Given the description of an element on the screen output the (x, y) to click on. 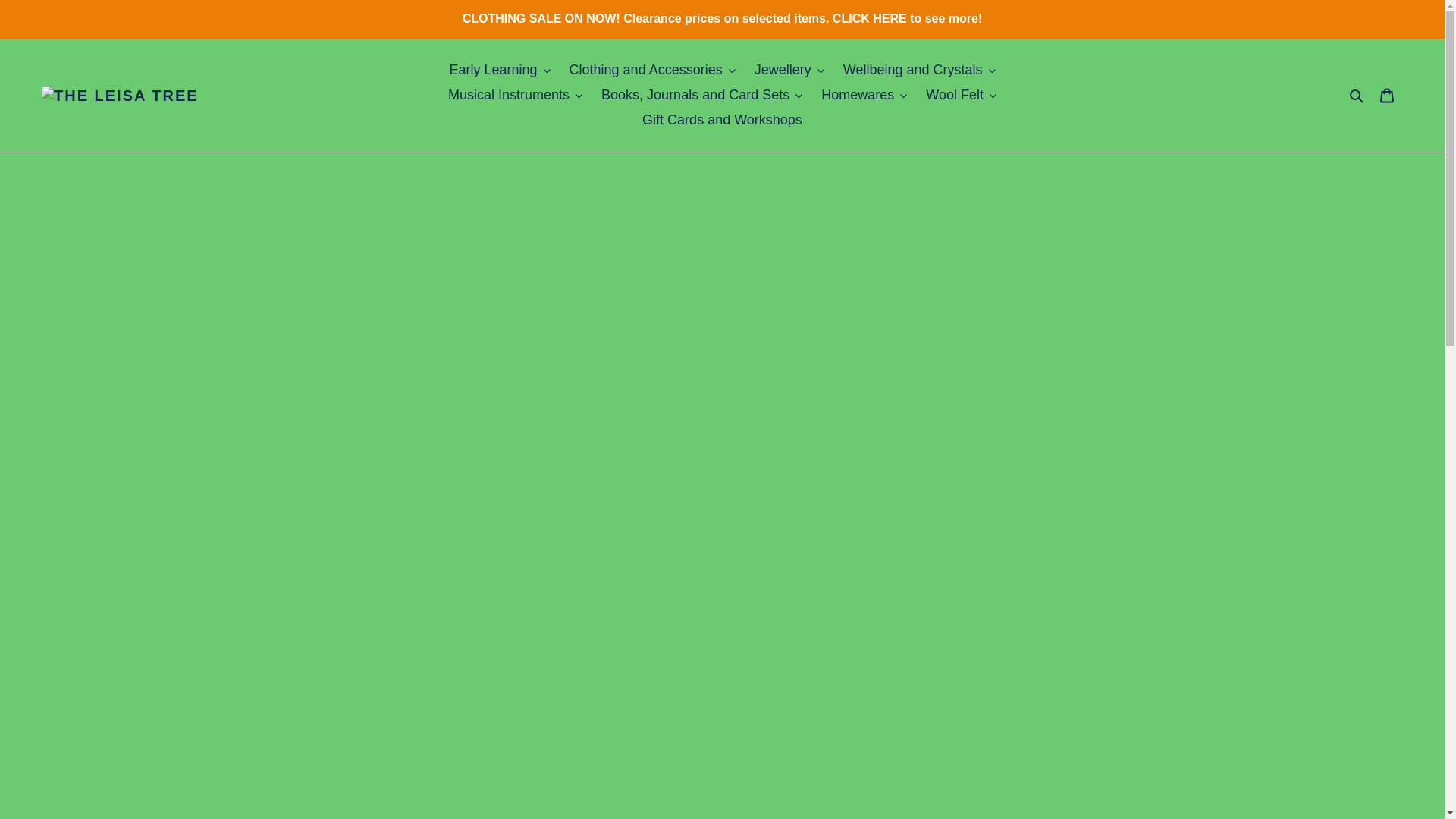
Clothing and Accessories (652, 69)
Early Learning (499, 69)
